Given the description of an element on the screen output the (x, y) to click on. 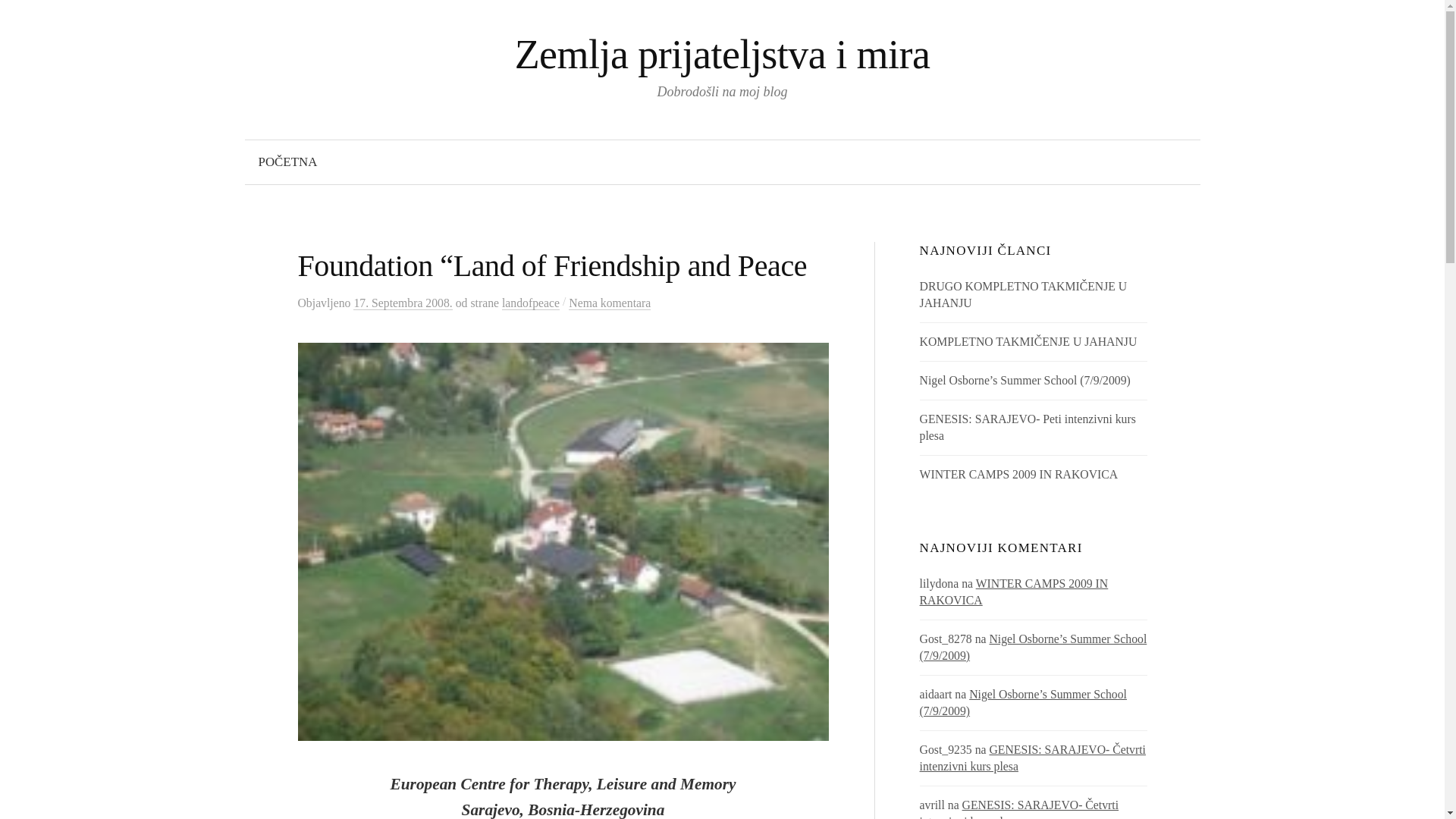
GENESIS: SARAJEVO- Peti intenzivni kurs plesa (1027, 427)
landofpeace (530, 303)
WINTER CAMPS 2009 IN RAKOVICA (1019, 473)
Pogledaj sve objave od landofpeace (530, 303)
WINTER CAMPS 2009 IN RAKOVICA (1014, 591)
Zemlja prijateljstva i mira (722, 53)
17. Septembra 2008. (402, 303)
Pretraga (18, 18)
